Given the description of an element on the screen output the (x, y) to click on. 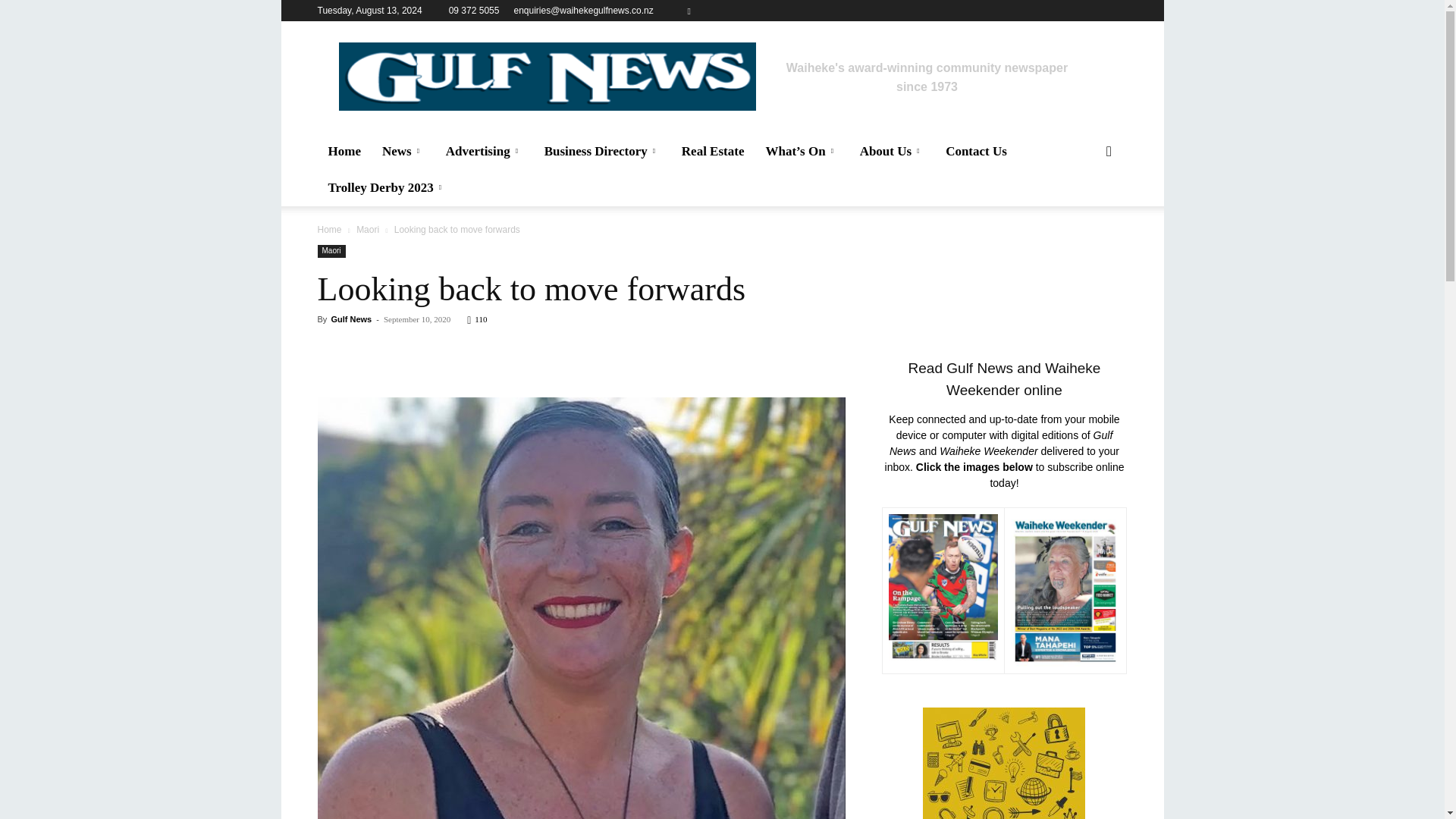
Best Independent Community Newspaper 2022 (546, 76)
09 372 5055 (473, 9)
View all posts in Maori (367, 229)
Facebook (689, 10)
